Given the description of an element on the screen output the (x, y) to click on. 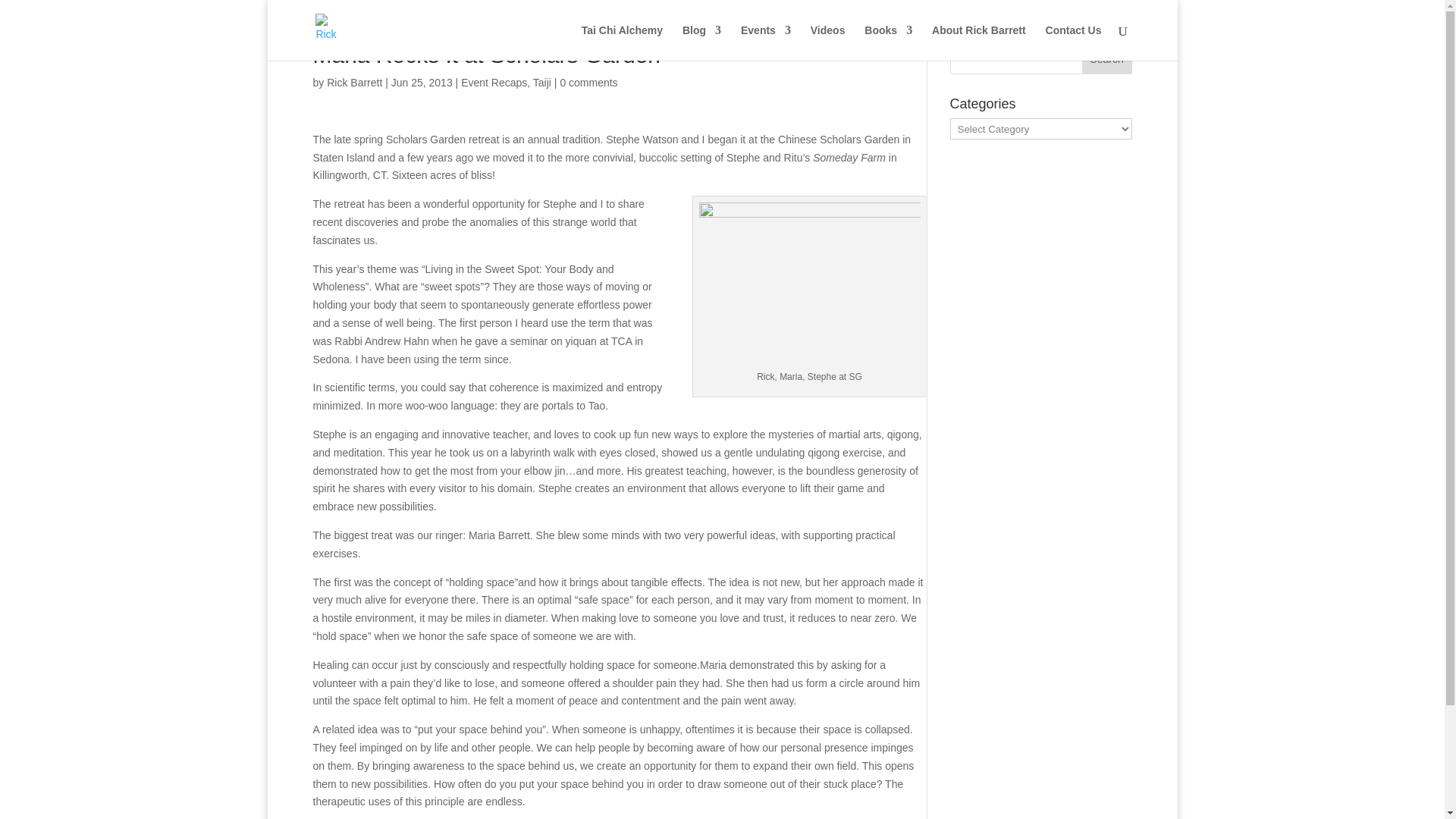
Contact Us (1073, 42)
Search (1106, 59)
0 comments (588, 82)
Tai Chi Alchemy (621, 42)
Books (888, 42)
Posts by Rick Barrett (353, 82)
Search (1106, 59)
Events (765, 42)
Event Recaps (494, 82)
Blog (701, 42)
Rick Barrett (353, 82)
Videos (827, 42)
About Rick Barrett (978, 42)
Taiji (541, 82)
